Given the description of an element on the screen output the (x, y) to click on. 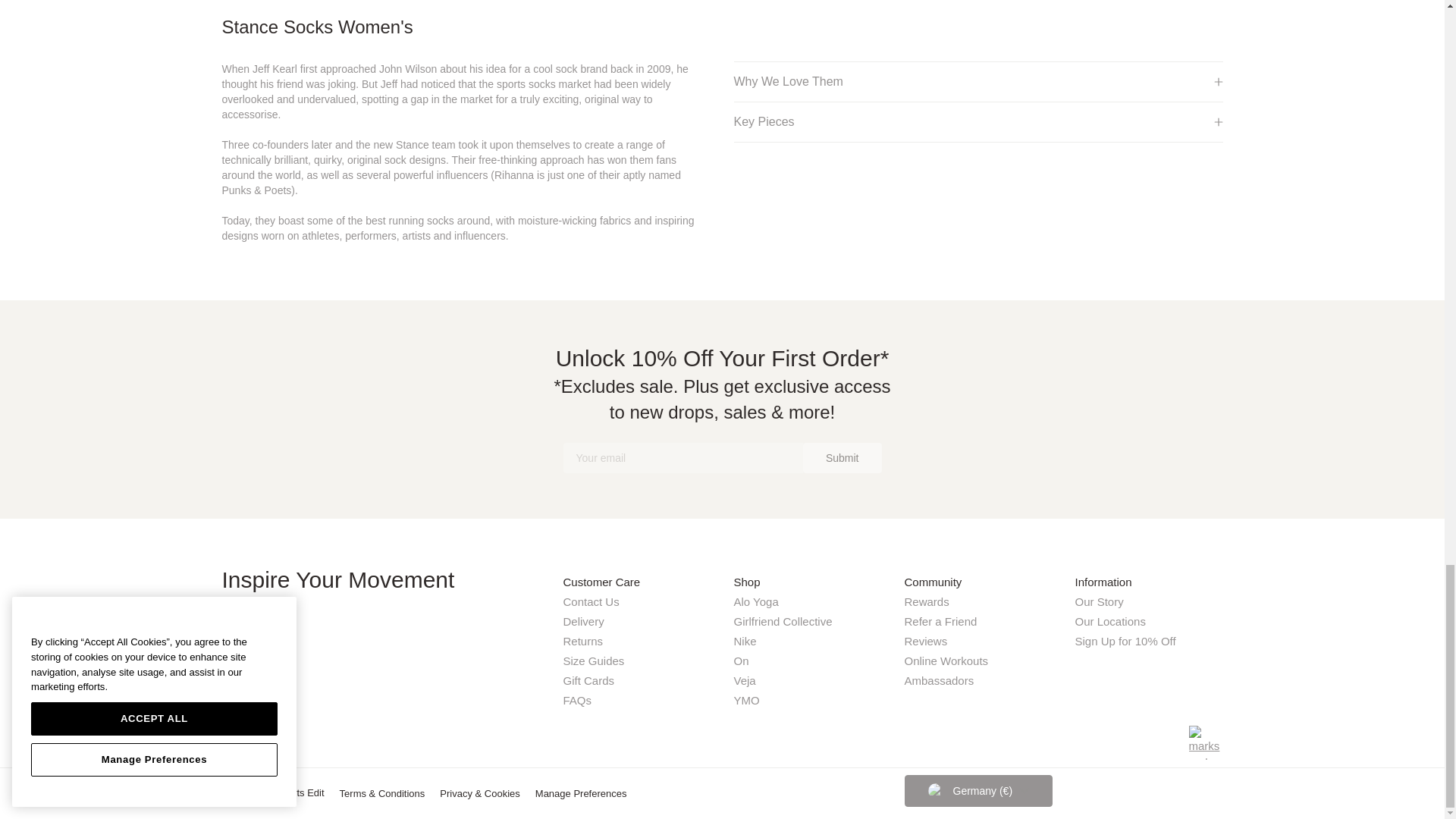
The Sports Edit EU on Pinterest (285, 740)
The Sports Edit EU on Facebook (257, 740)
The Sports Edit EU on Instagram (231, 740)
